Given the description of an element on the screen output the (x, y) to click on. 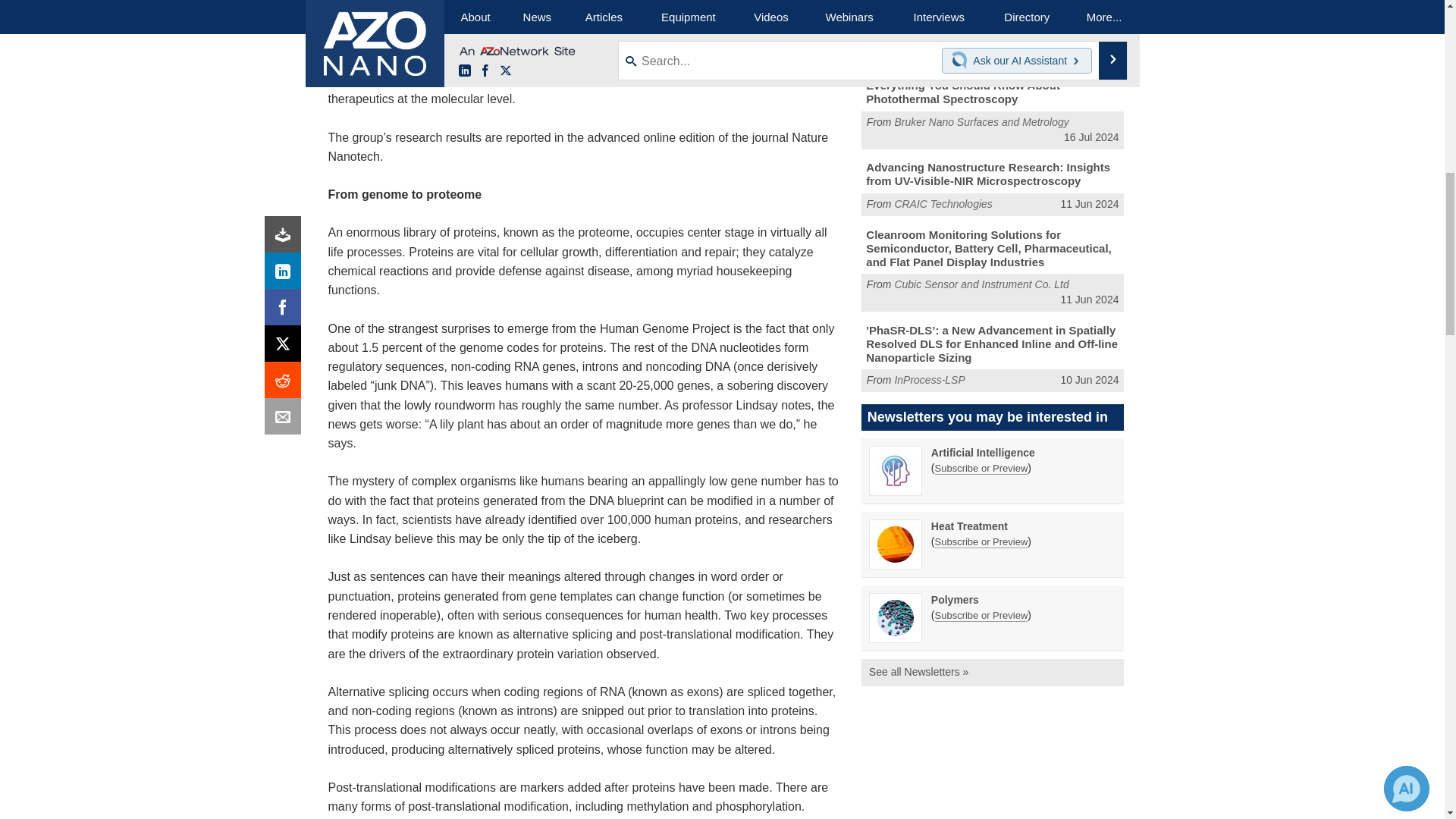
3rd party ad content (992, 9)
